Given the description of an element on the screen output the (x, y) to click on. 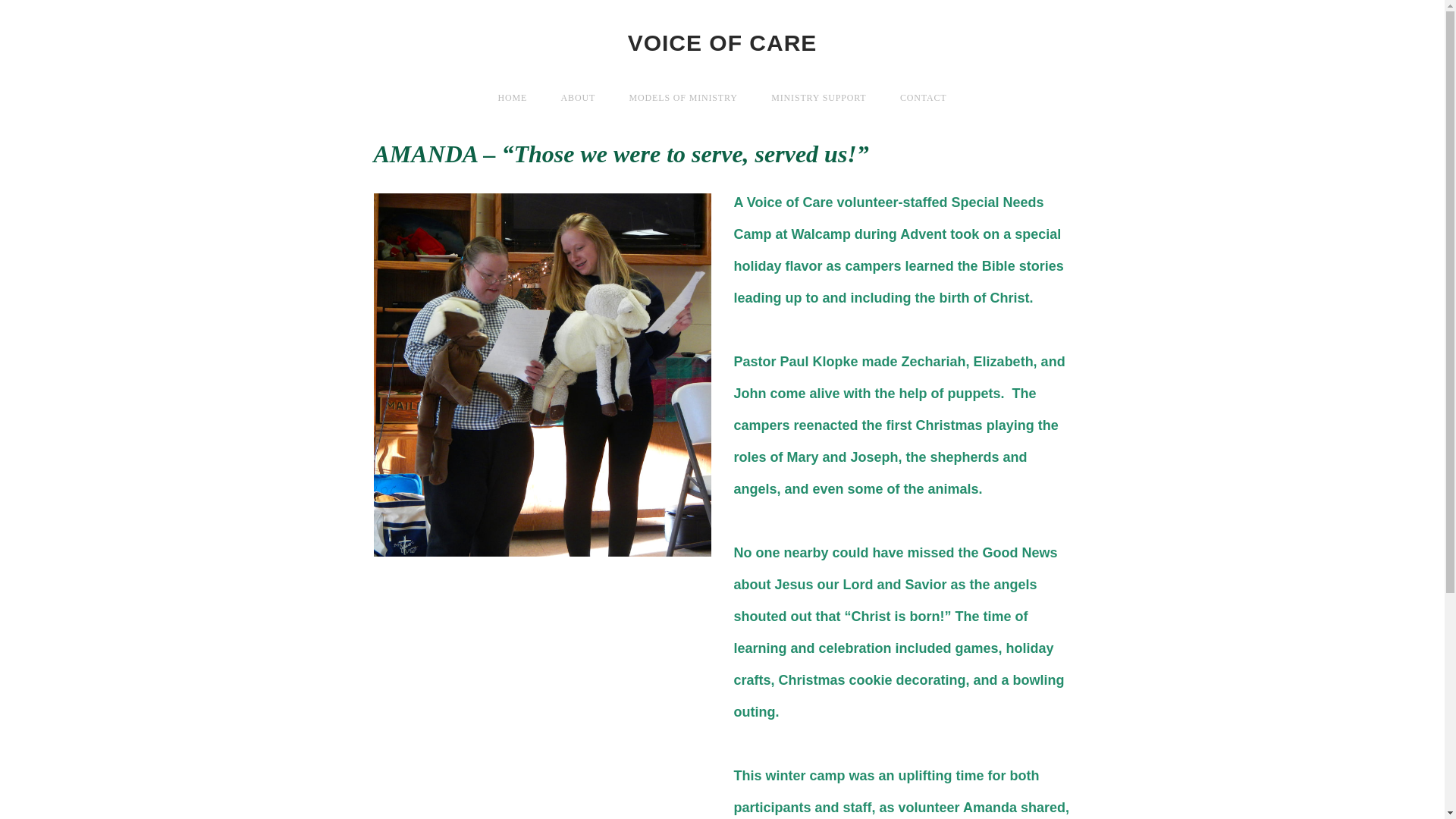
HOME (512, 97)
VOICE OF CARE (721, 43)
ABOUT (578, 97)
MODELS OF MINISTRY (683, 97)
